Given the description of an element on the screen output the (x, y) to click on. 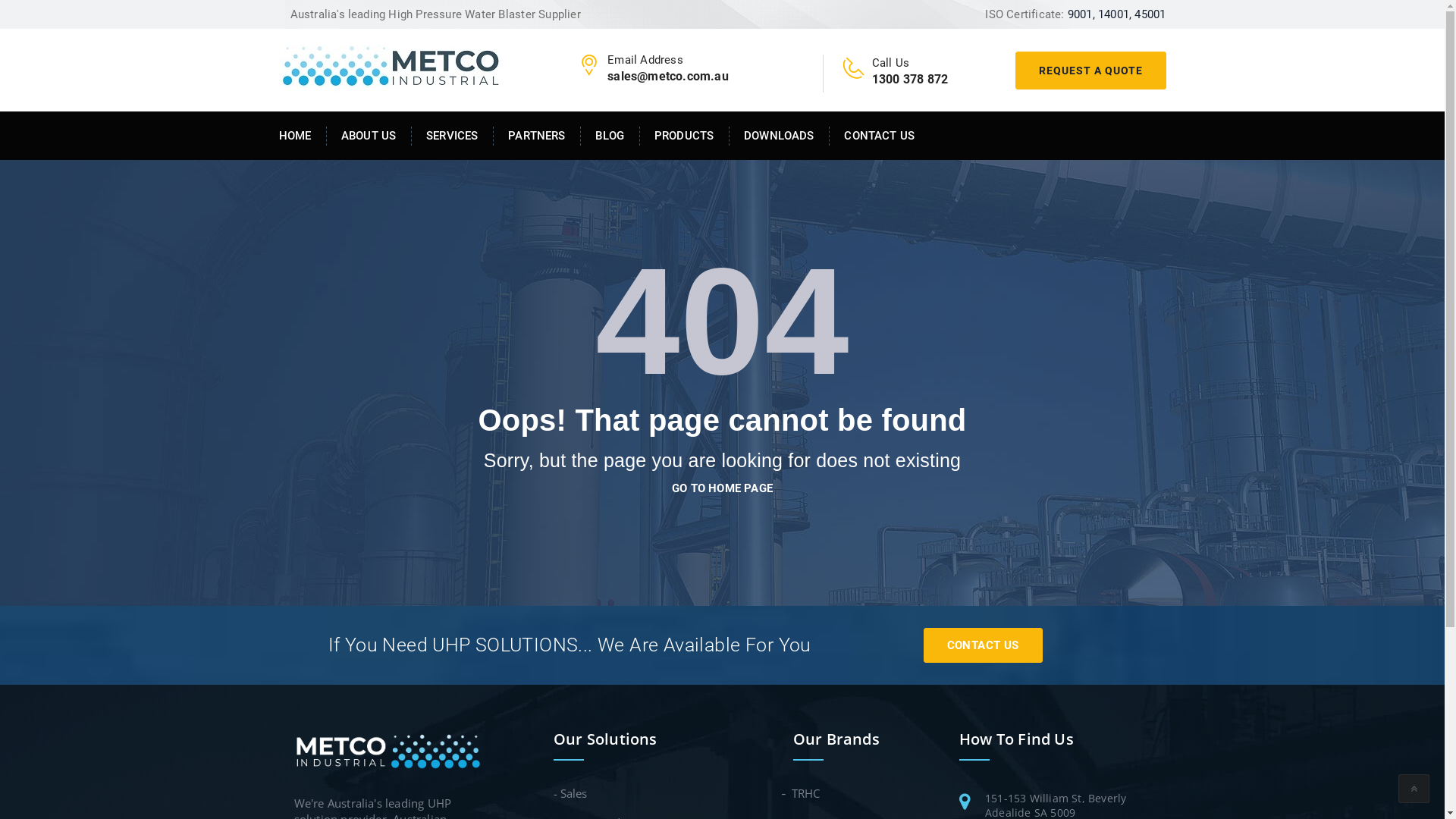
SERVICES Element type: text (452, 135)
Metco Industrial Element type: hover (390, 749)
TRHC Element type: text (806, 792)
REQUEST A QUOTE Element type: text (1089, 70)
GO TO HOME PAGE Element type: text (722, 487)
ABOUT US Element type: text (368, 135)
PRODUCTS Element type: text (684, 135)
BLOG Element type: text (610, 135)
CONTACT US Element type: text (982, 644)
Metco Industrial Element type: hover (391, 67)
CONTACT US Element type: text (871, 135)
PARTNERS Element type: text (536, 135)
DOWNLOADS Element type: text (779, 135)
HOME Element type: text (302, 135)
- Sales Element type: text (569, 792)
